Given the description of an element on the screen output the (x, y) to click on. 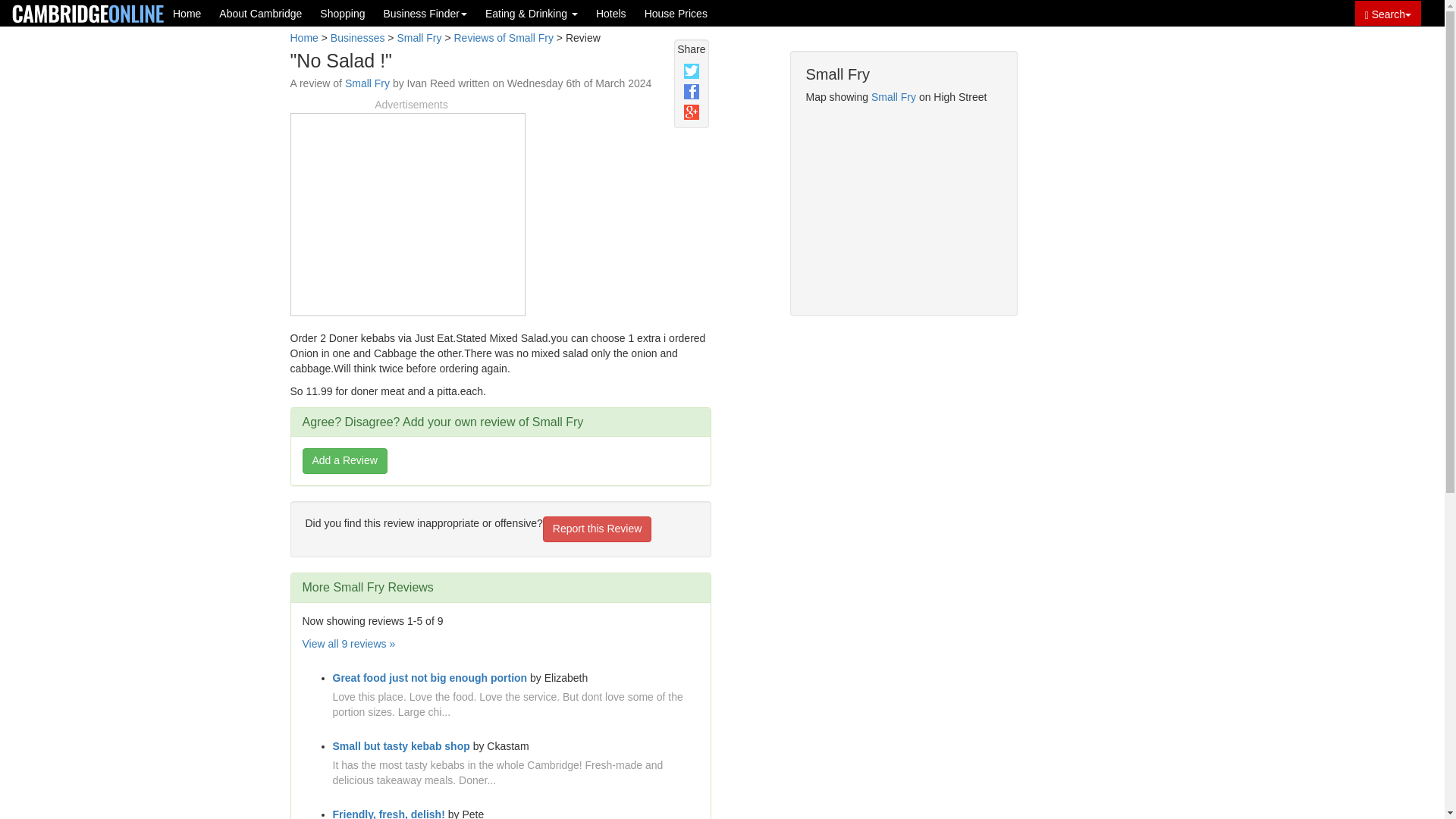
Report this Review (597, 529)
Home (303, 37)
Small Fry (892, 96)
Advertisement (407, 212)
Business Finder (425, 12)
Search (1388, 12)
About Cambridge (260, 12)
Add a Review (344, 460)
Businesses (357, 37)
Friendly, fresh, delish! (387, 813)
Reviews of Small Fry (502, 37)
Shopping (342, 12)
Small Fry (418, 37)
Small but tasty kebab shop (399, 746)
Home (186, 12)
